Given the description of an element on the screen output the (x, y) to click on. 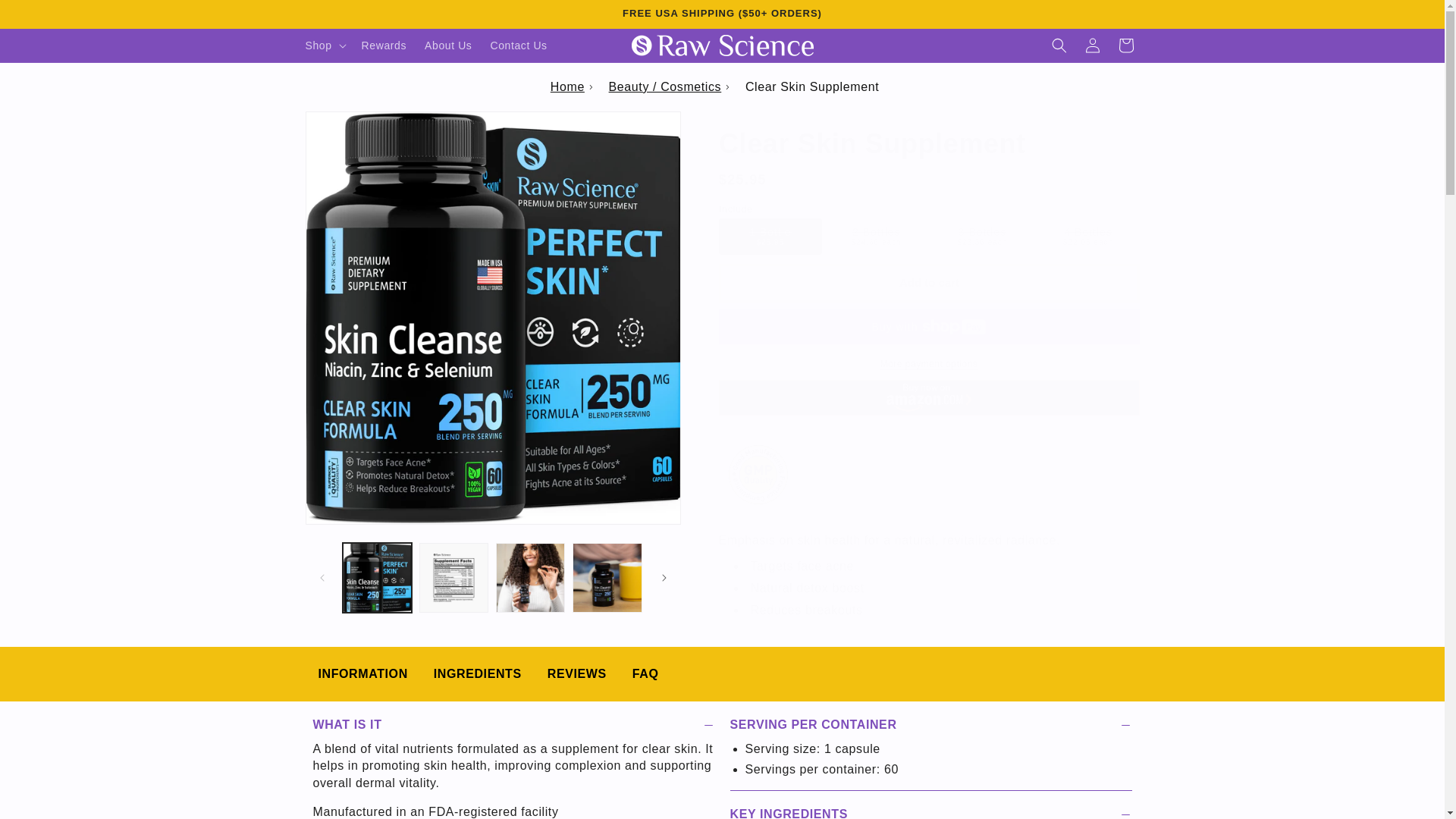
Skip to content (47, 18)
